Given the description of an element on the screen output the (x, y) to click on. 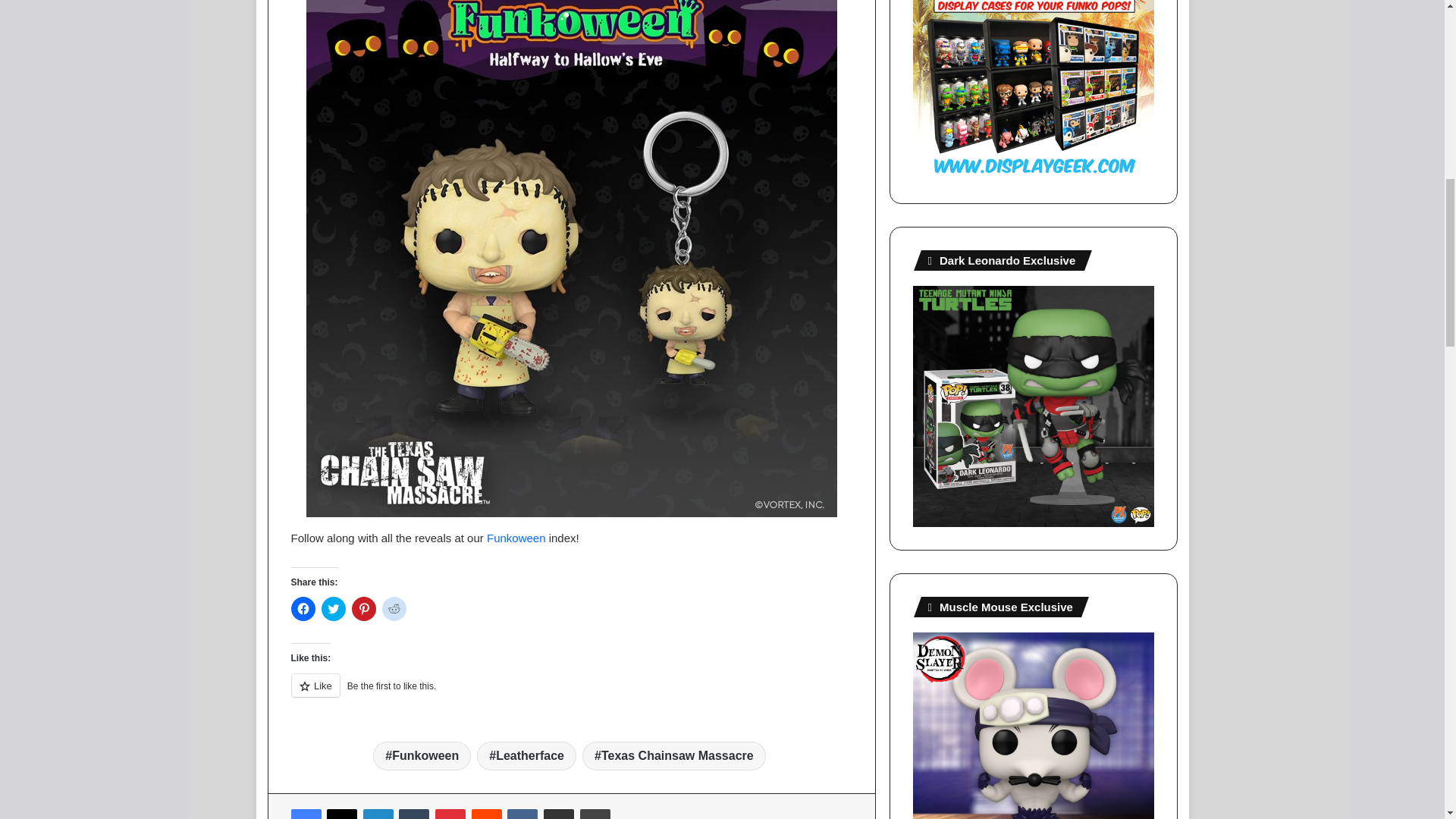
Pinterest (450, 814)
Click to share on Pinterest (363, 608)
Click to share on Reddit (393, 608)
VKontakte (521, 814)
Click to share on Twitter (333, 608)
Leatherface (526, 756)
Funkoween (421, 756)
Tumblr (413, 814)
Reddit (486, 814)
Like or Reblog (571, 693)
X (341, 814)
Funkoween (516, 537)
LinkedIn (377, 814)
Facebook (306, 814)
Click to share on Facebook (303, 608)
